Given the description of an element on the screen output the (x, y) to click on. 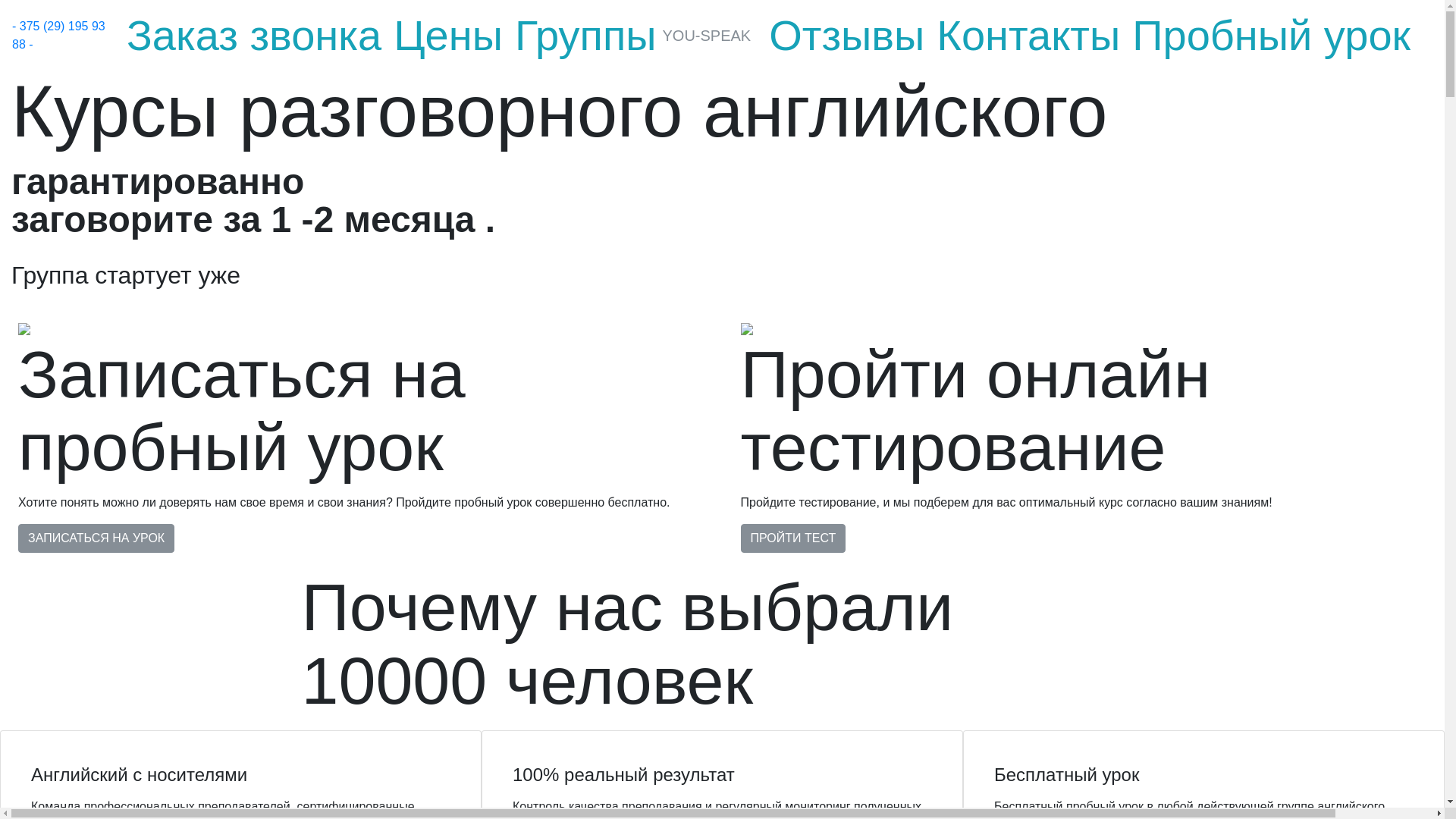
- 375 (29) 195 93 88 - Element type: text (58, 34)
YOU-SPEAK Element type: text (706, 35)
